Given the description of an element on the screen output the (x, y) to click on. 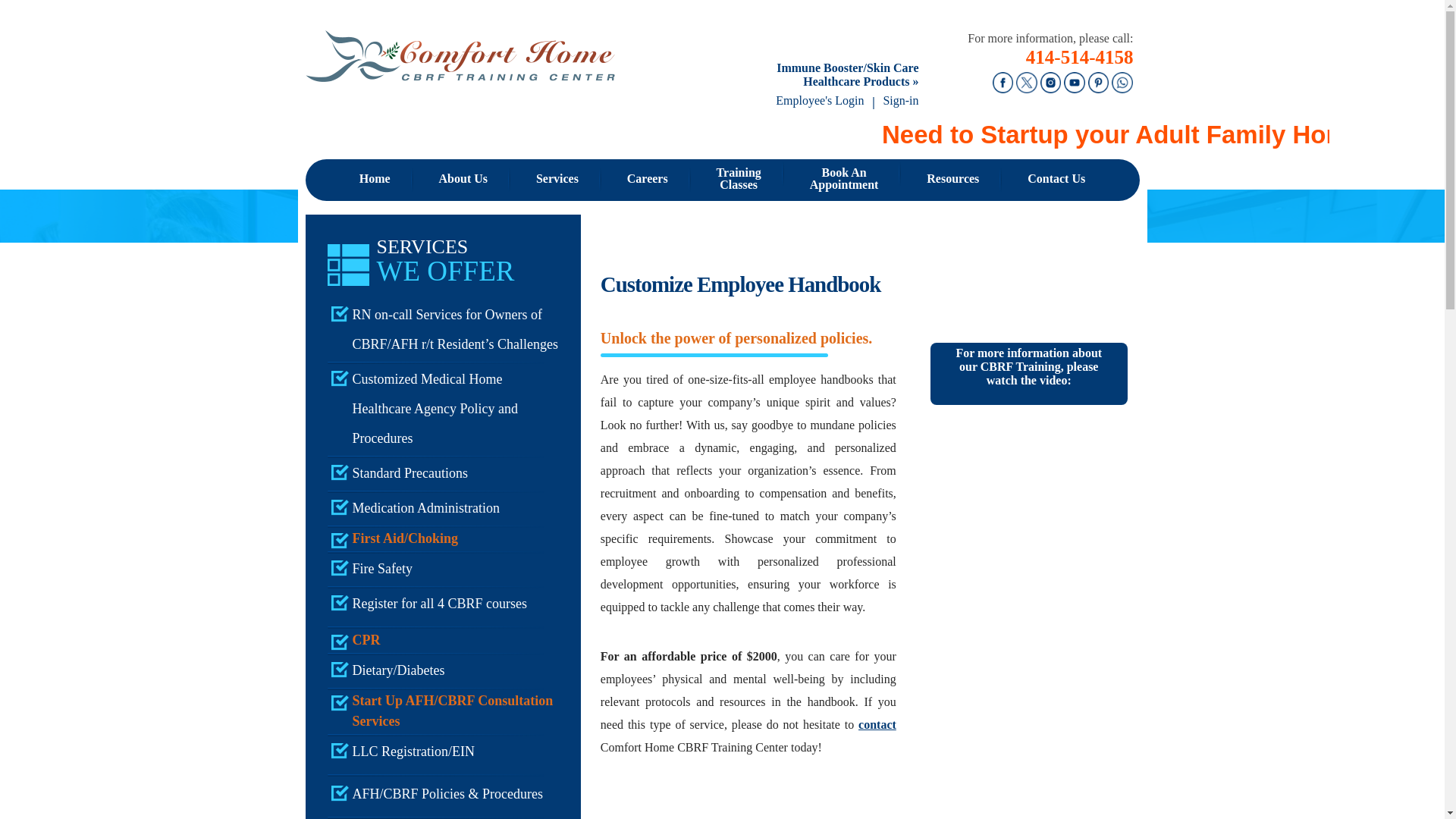
Standard Precautions (443, 473)
About Us (462, 178)
Careers (647, 178)
Fire Safety (443, 568)
Sign-in (900, 100)
CPR (443, 639)
Medication Administration (738, 178)
